Given the description of an element on the screen output the (x, y) to click on. 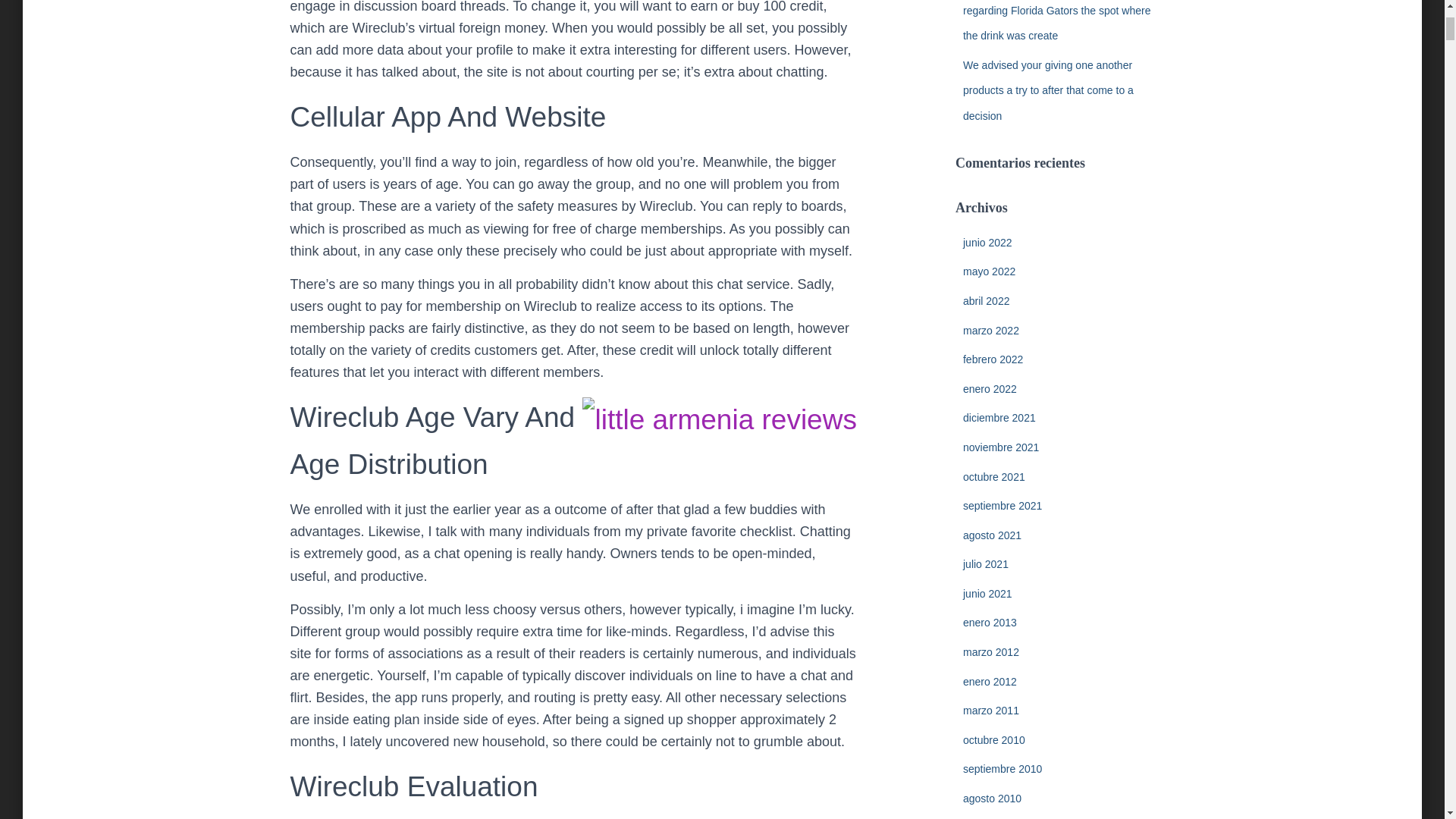
octubre 2010 (993, 739)
agosto 2010 (992, 798)
marzo 2011 (990, 710)
agosto 2021 (992, 535)
septiembre 2010 (1002, 768)
mayo 2022 (988, 271)
septiembre 2021 (1002, 505)
noviembre 2021 (1000, 447)
enero 2013 (989, 622)
octubre 2021 (993, 476)
diciembre 2021 (998, 417)
julio 2021 (985, 563)
junio 2021 (986, 593)
